Given the description of an element on the screen output the (x, y) to click on. 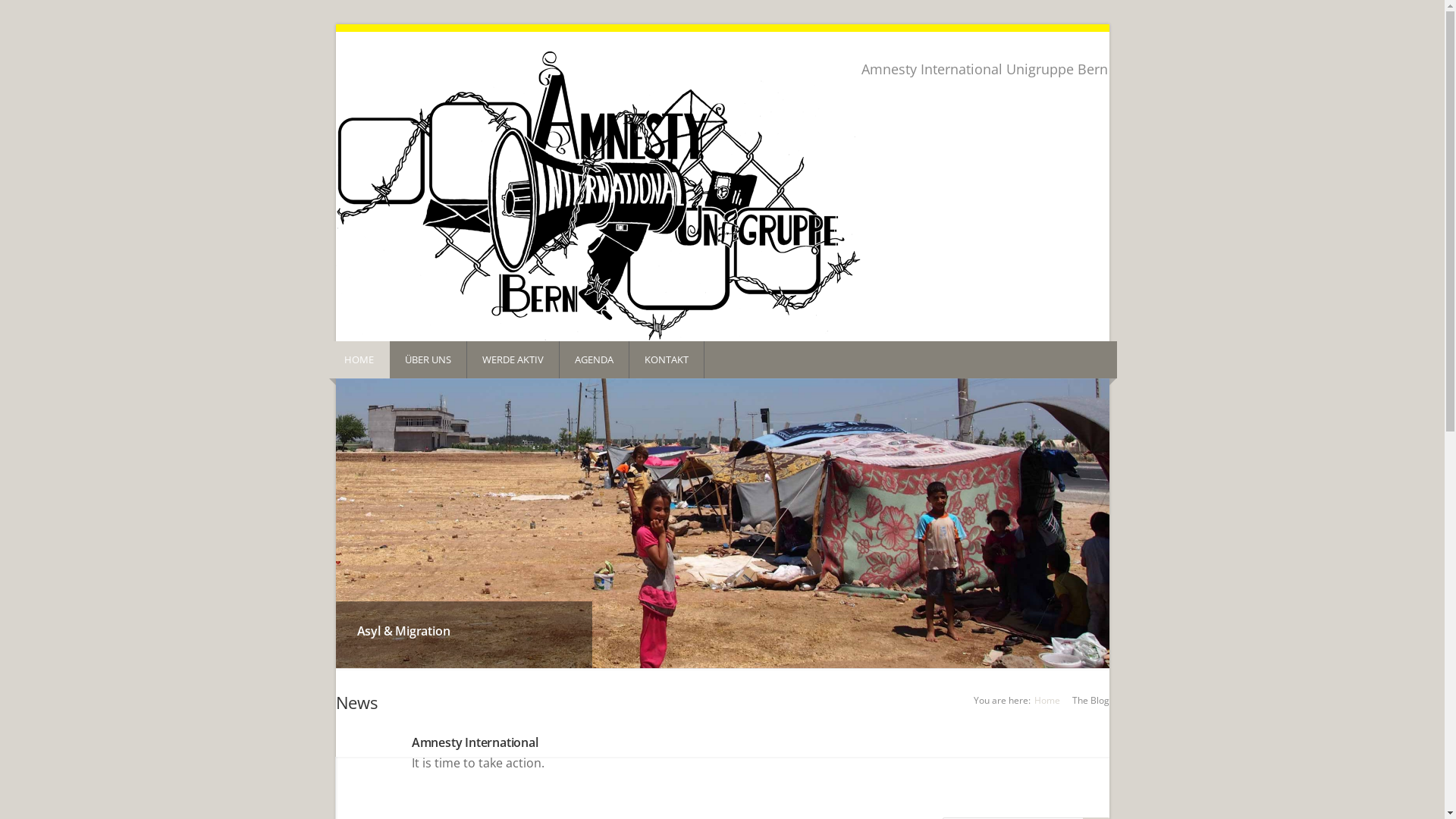
KONTAKT Element type: text (666, 359)
twitter Element type: text (1098, 103)
AGENDA Element type: text (594, 359)
facebook Element type: text (1061, 103)
youtube Element type: text (1077, 103)
HOME Element type: text (358, 359)
You are here: Element type: text (1001, 699)
Home Element type: text (1047, 699)
WERDE AKTIV Element type: text (513, 359)
